Given the description of an element on the screen output the (x, y) to click on. 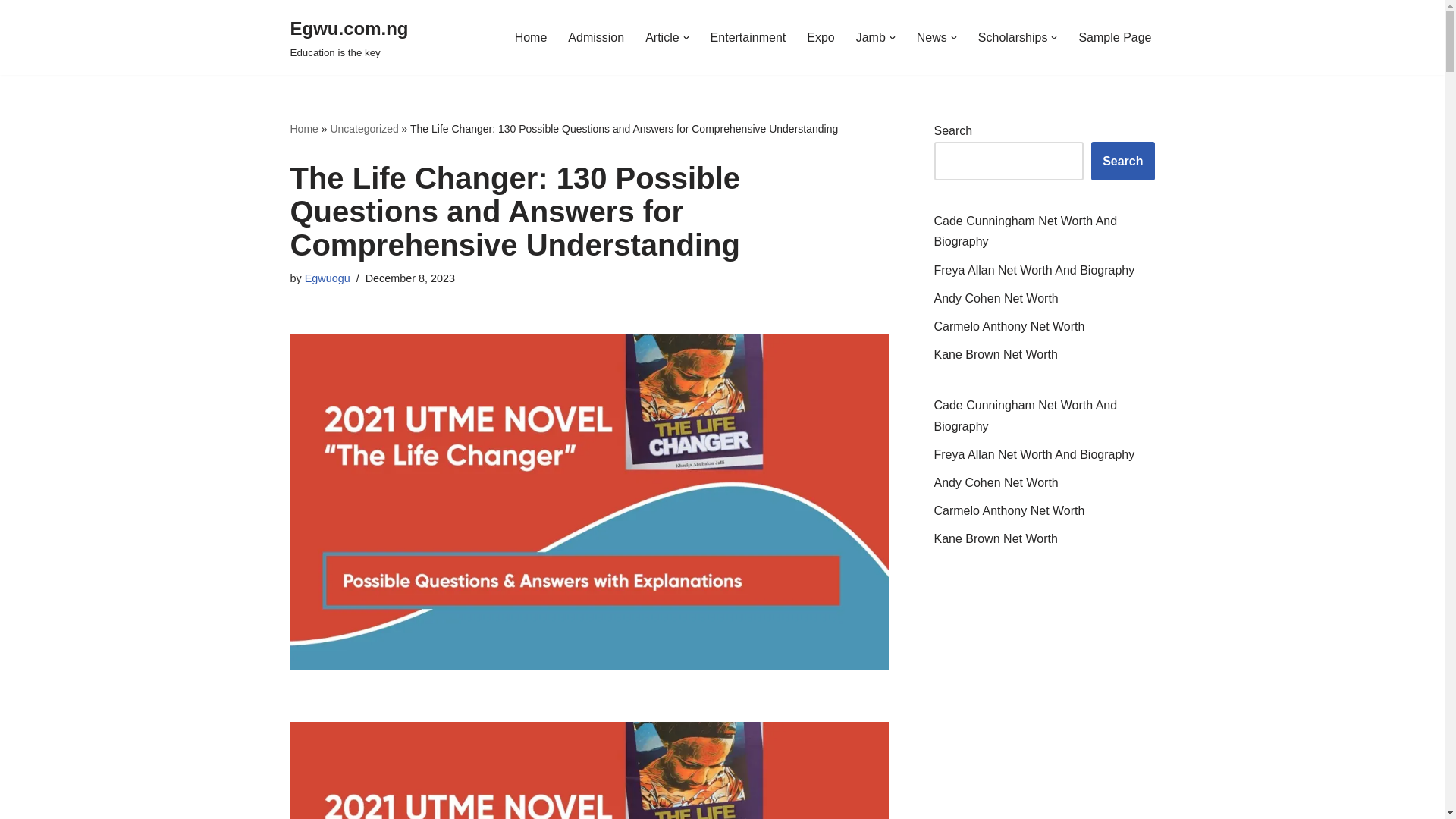
Article (661, 37)
Expo (820, 37)
Home (531, 37)
Scholarships (1013, 37)
Admission (348, 37)
Posts by Egwuogu (595, 37)
Sample Page (327, 277)
Jamb (1114, 37)
News (870, 37)
Skip to content (932, 37)
Entertainment (11, 31)
